Given the description of an element on the screen output the (x, y) to click on. 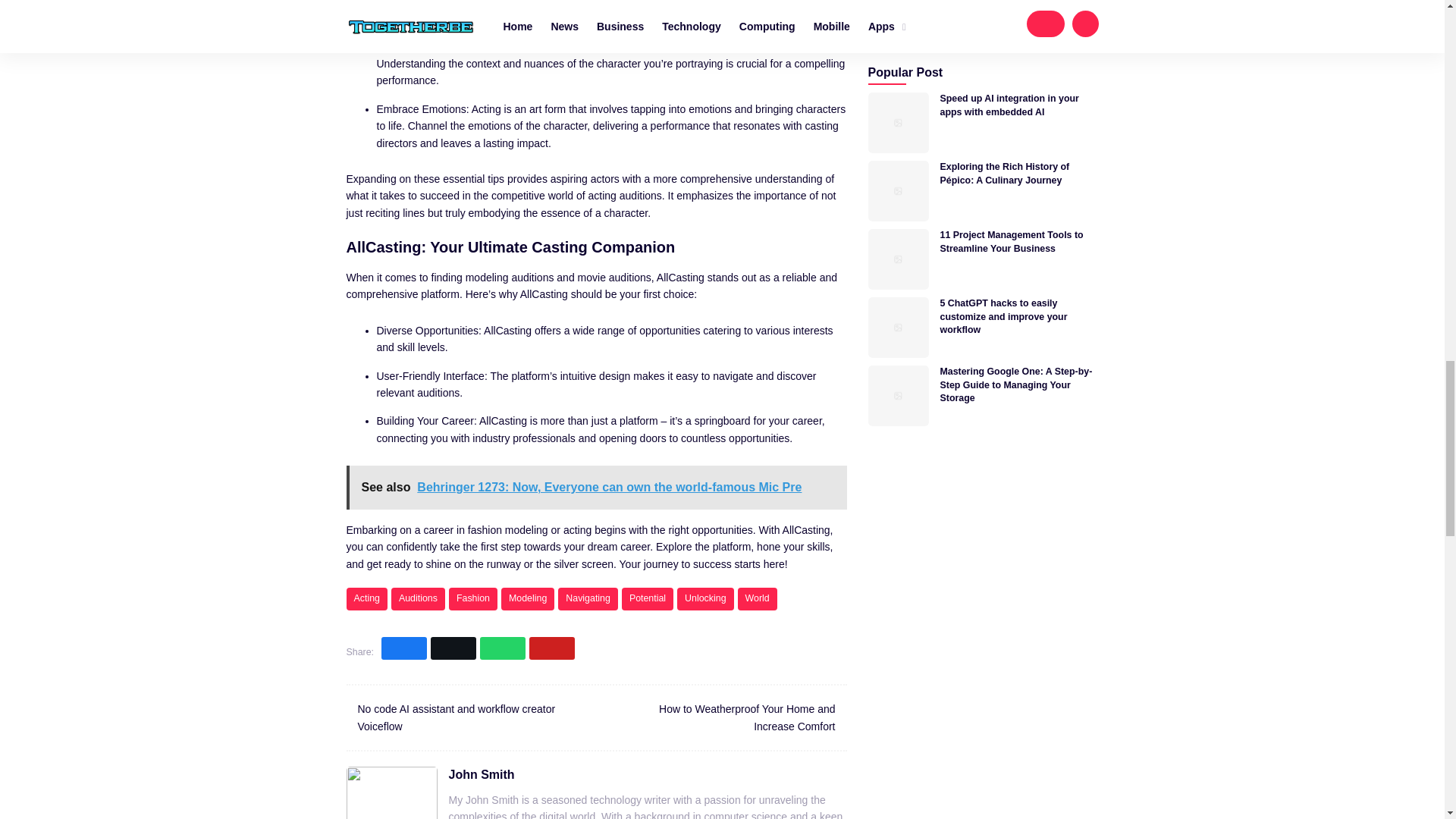
Share on Whatsapp (502, 648)
Share on Email (552, 648)
Share on Twitter (453, 648)
Share on Facebook (403, 648)
